Given the description of an element on the screen output the (x, y) to click on. 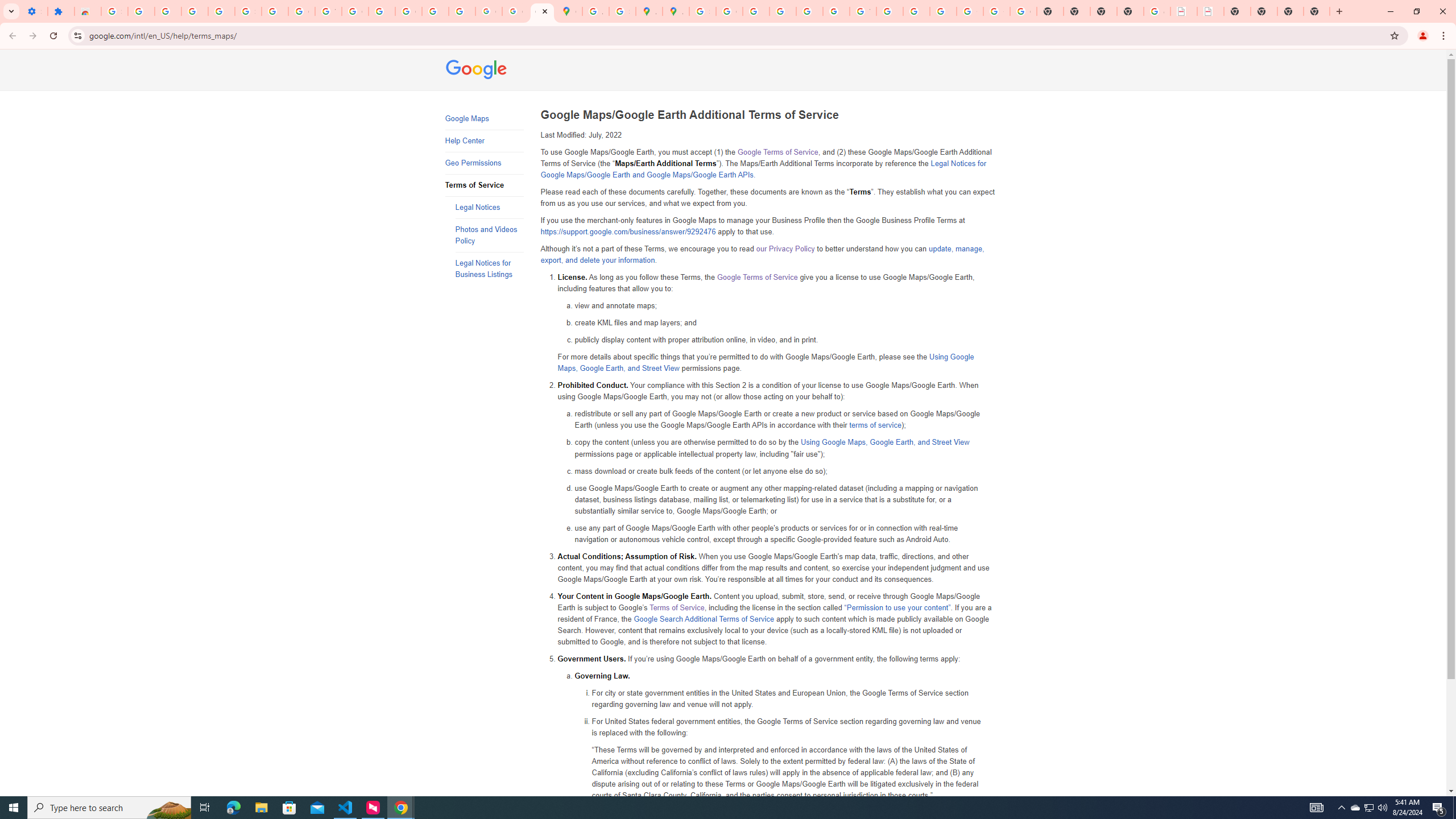
https://scholar.google.com/ (382, 11)
